Given the description of an element on the screen output the (x, y) to click on. 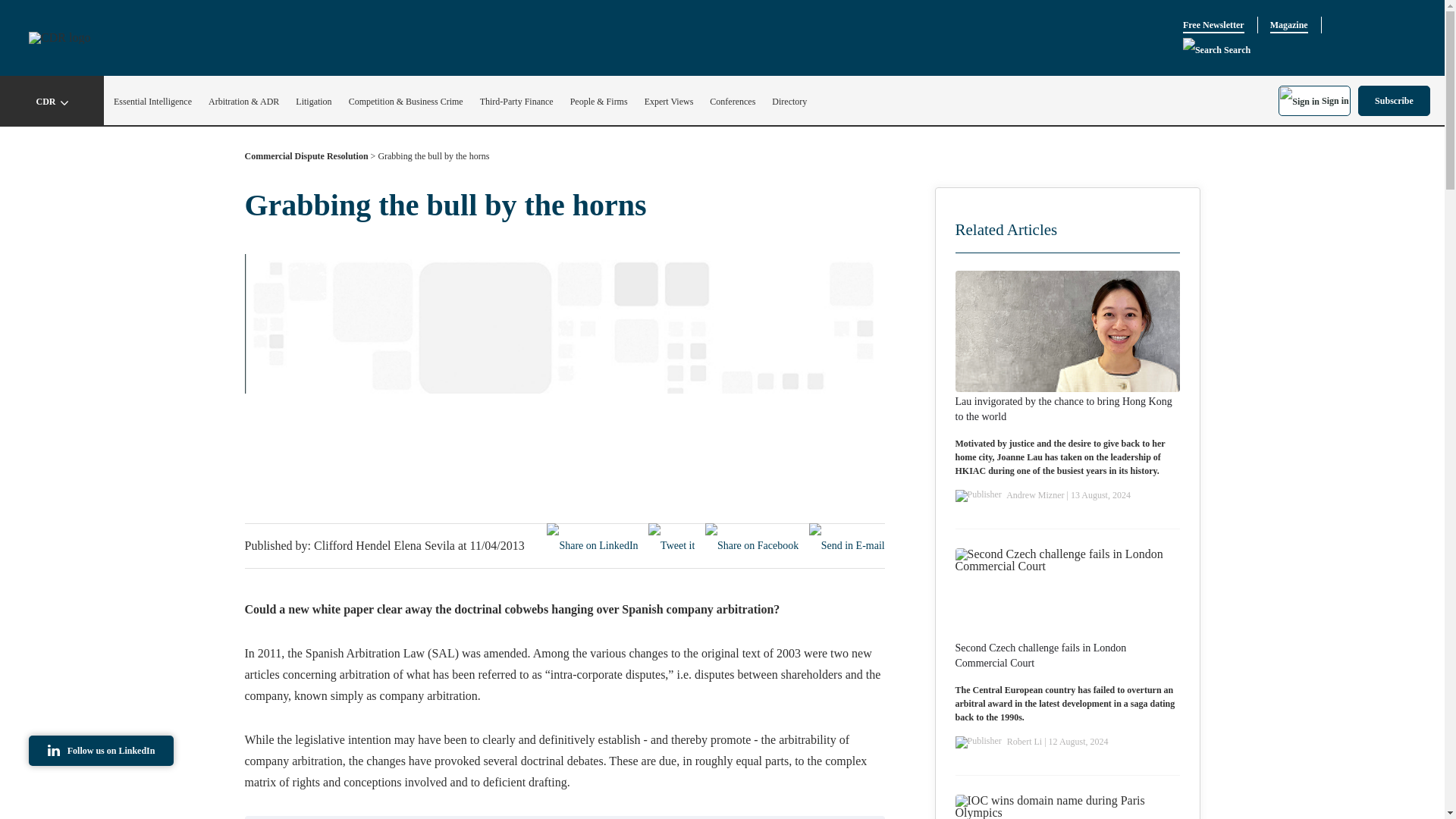
Subscribe (1393, 100)
Essential Intelligence (152, 101)
Conferences (732, 101)
Commercial Dispute Resolution (306, 159)
Third-Party Finance (516, 101)
Free Newsletter (1213, 25)
Expert Views (669, 101)
Second Czech challenge fails in London Commercial Court (1067, 655)
Magazine (1288, 25)
